Given the description of an element on the screen output the (x, y) to click on. 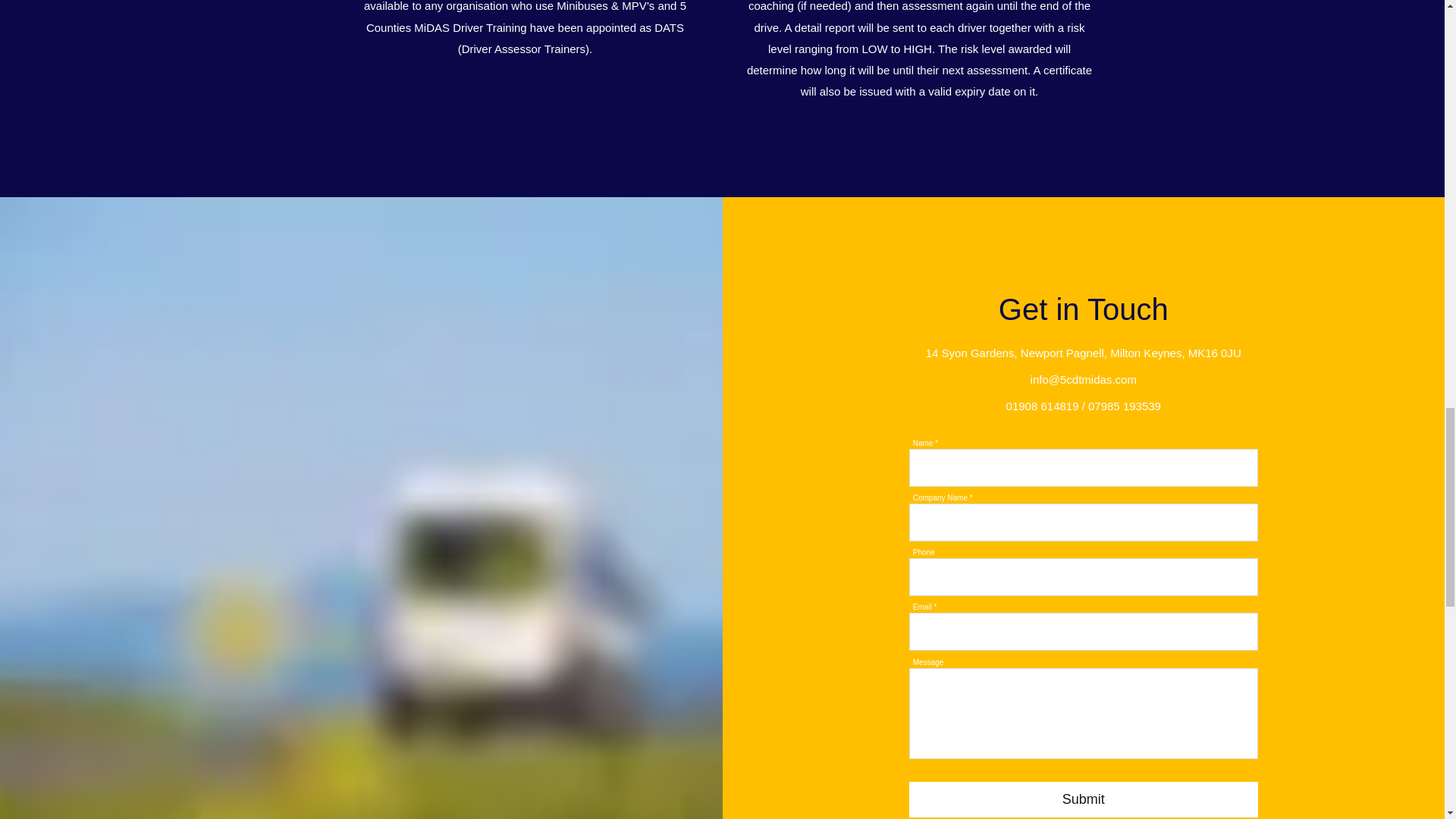
Submit (1082, 799)
